Given the description of an element on the screen output the (x, y) to click on. 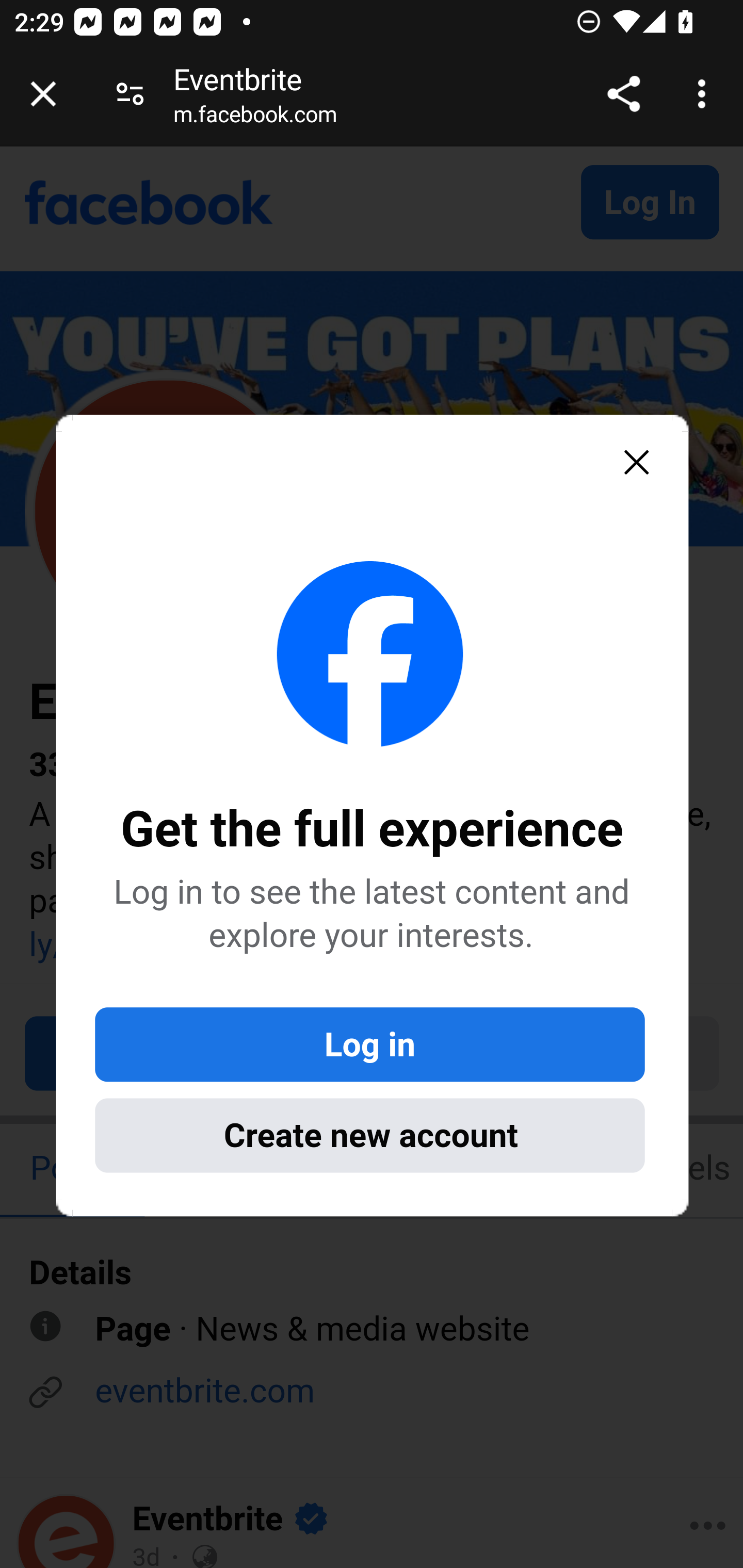
Close tab (43, 93)
Share link address (623, 93)
Customize and control Google Chrome (705, 93)
Connection is secure (129, 93)
m.facebook.com (254, 117)
󱤅 (636, 463)
Log in (369, 1043)
Create new account (369, 1134)
